Given the description of an element on the screen output the (x, y) to click on. 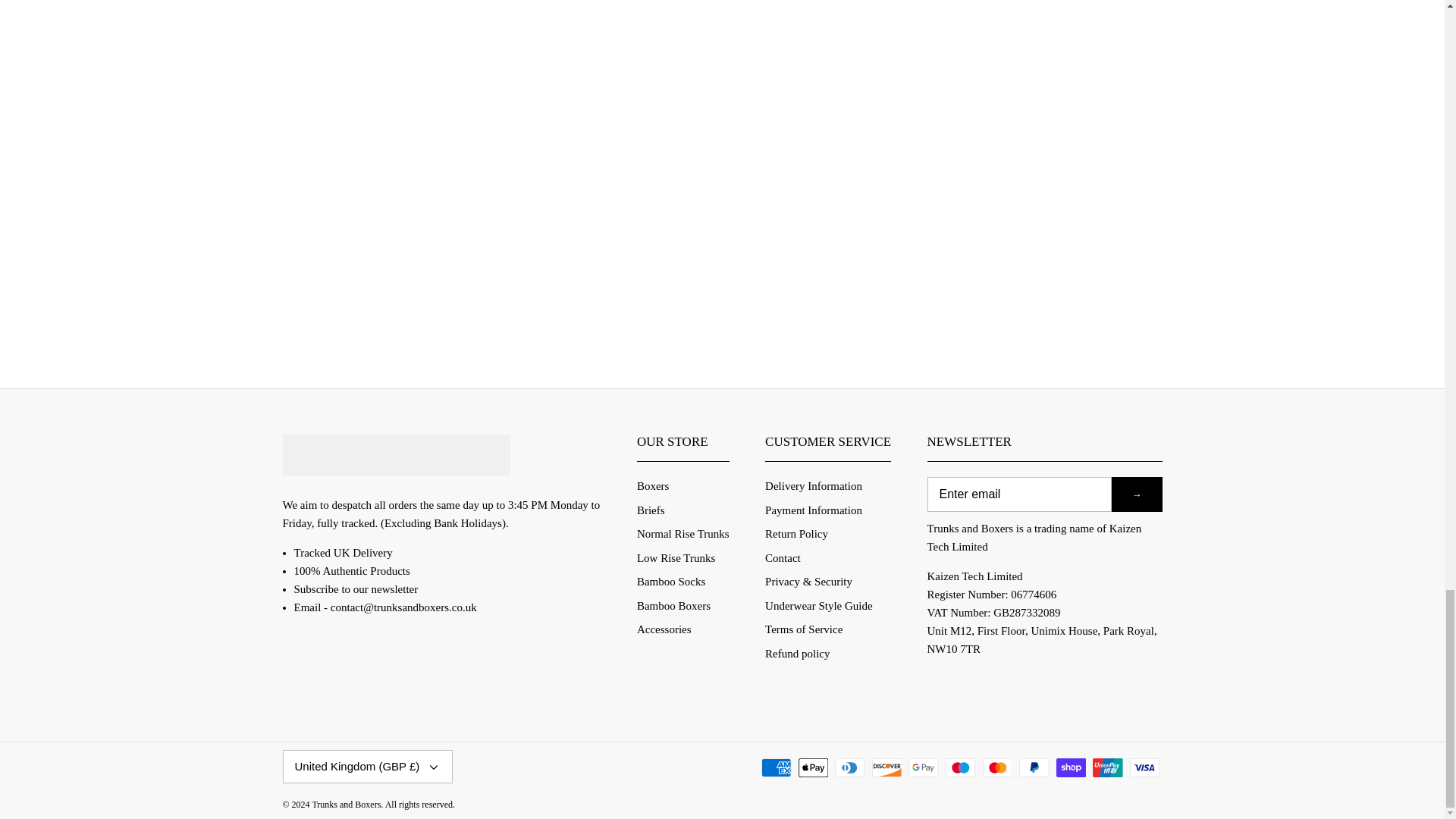
Apple Pay (812, 767)
Down (433, 766)
Maestro (959, 767)
PayPal (1034, 767)
Google Pay (923, 767)
American Express (776, 767)
Shop Pay (1071, 767)
Union Pay (1107, 767)
Diners Club (849, 767)
Mastercard (997, 767)
Visa (1144, 767)
Discover (887, 767)
